Given the description of an element on the screen output the (x, y) to click on. 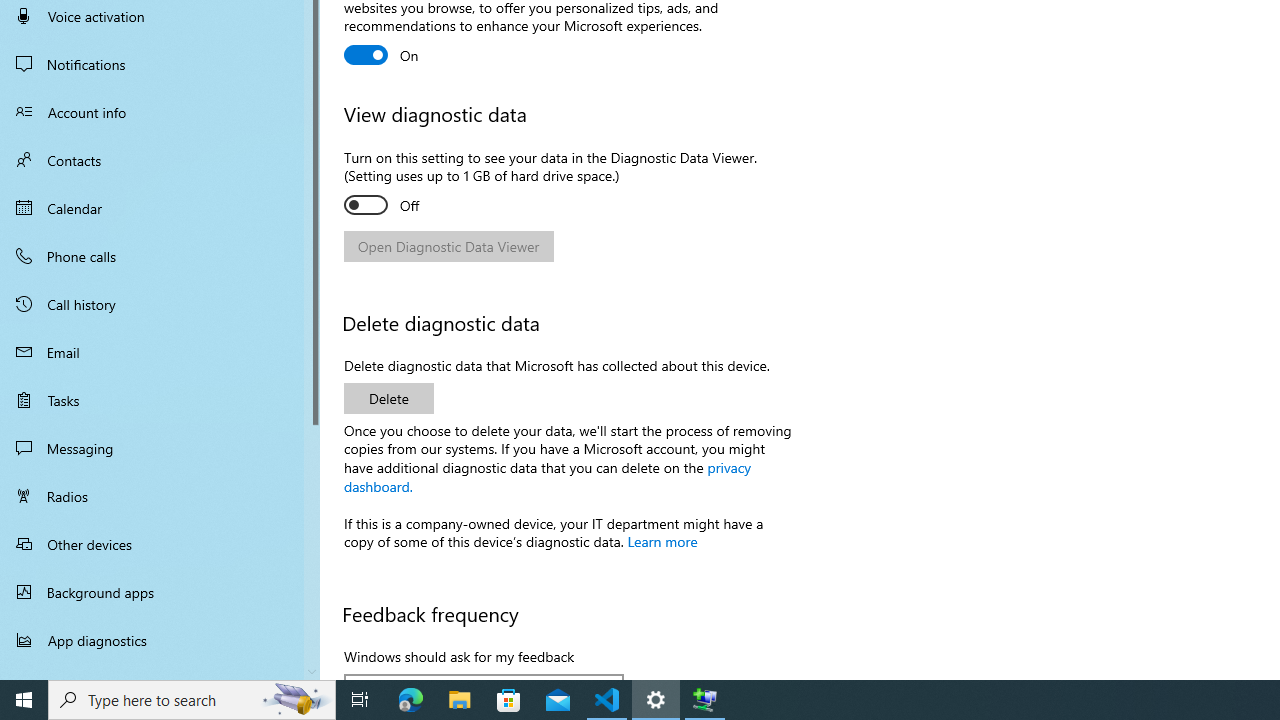
Contacts (160, 160)
